Given the description of an element on the screen output the (x, y) to click on. 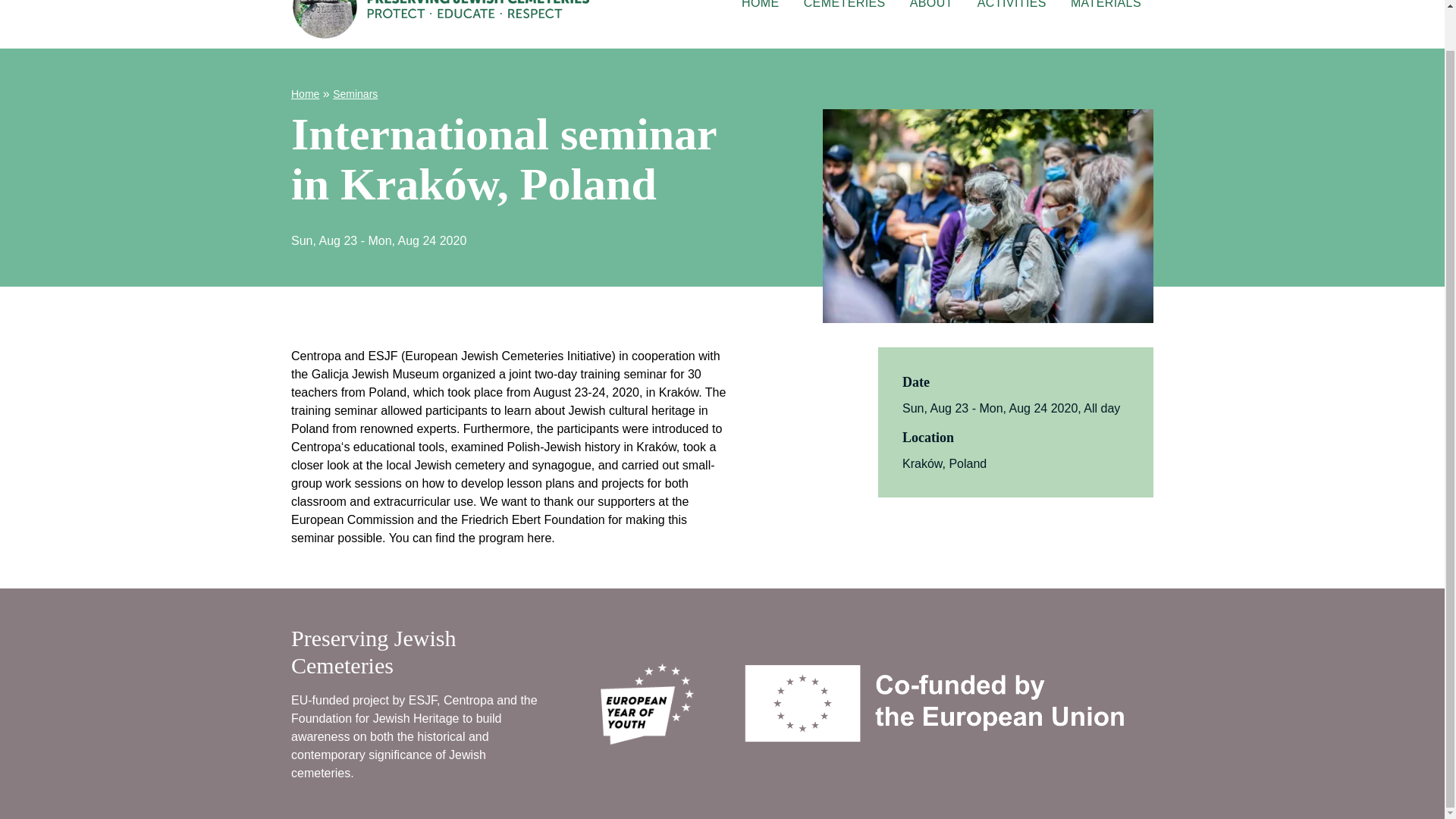
CEMETERIES (845, 9)
MATERIALS (1105, 9)
ACTIVITIES (1011, 9)
HOME (935, 18)
Home (760, 9)
ABOUT (304, 93)
Seminars (931, 9)
